Given the description of an element on the screen output the (x, y) to click on. 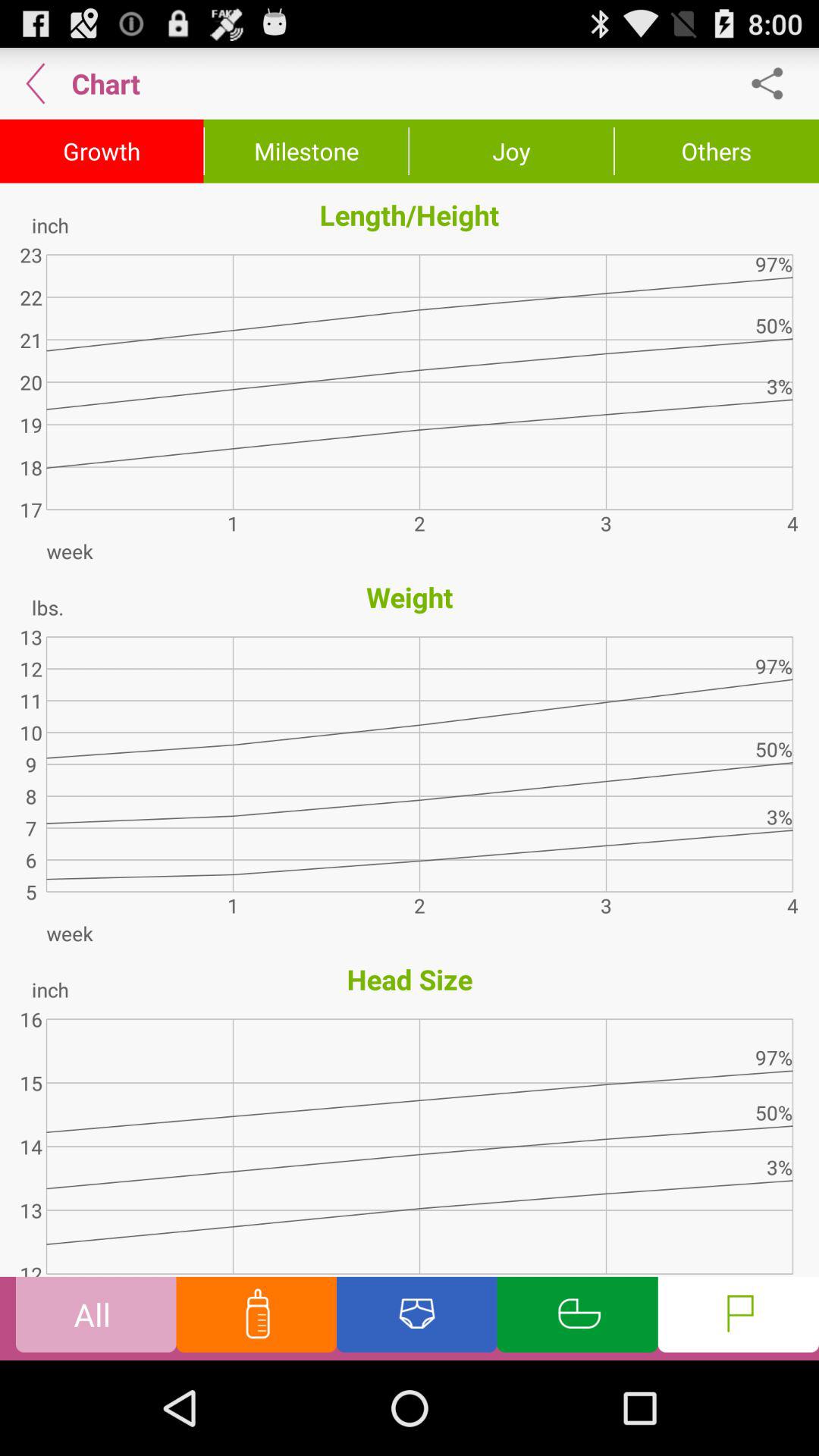
go to dipper page (416, 1318)
